Given the description of an element on the screen output the (x, y) to click on. 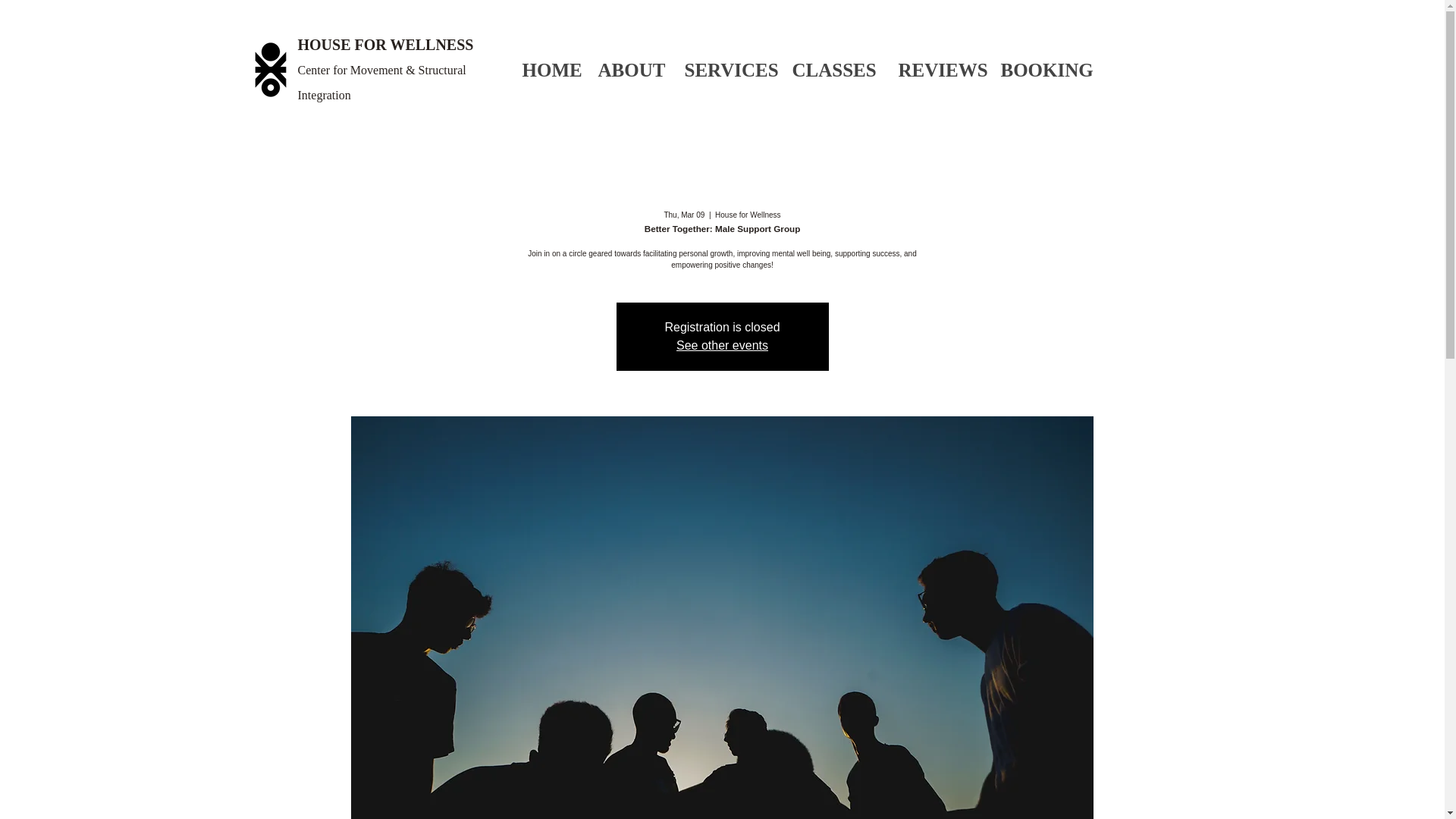
ABOUT (629, 69)
CLASSES (833, 69)
HOME (548, 69)
SERVICES (726, 69)
REVIEWS (938, 69)
BOOKING (1040, 69)
See other events (722, 345)
